Given the description of an element on the screen output the (x, y) to click on. 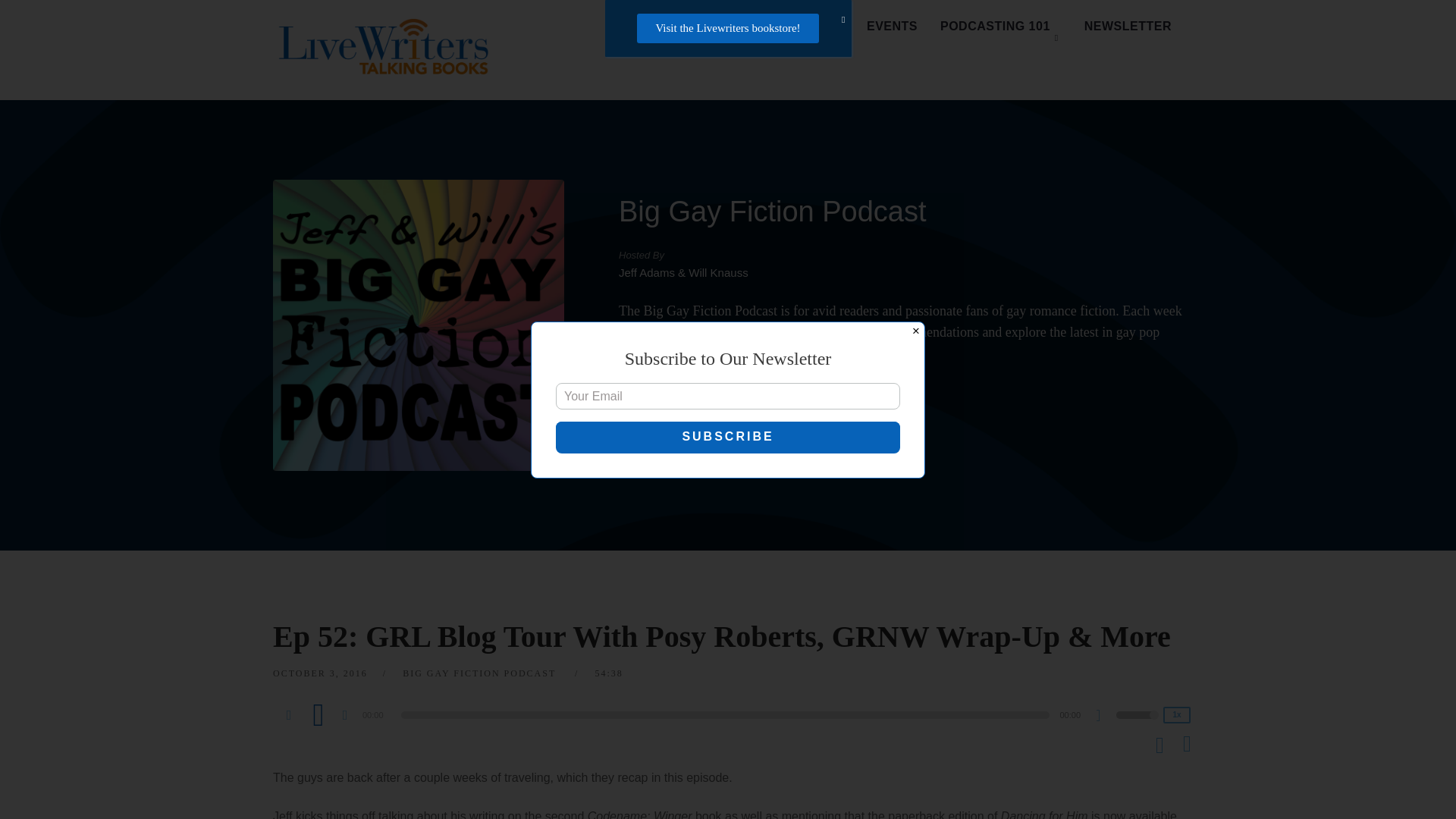
HOME (652, 26)
PODCASTS (734, 26)
WEBSITE (677, 402)
PODCASTING 101 (1000, 26)
SUBSCRIBE (819, 402)
LiveWriters (386, 49)
Speed Rate (1177, 714)
EVENTS (892, 26)
Big Gay Fiction Podcast (772, 211)
Mute (1104, 717)
